Given the description of an element on the screen output the (x, y) to click on. 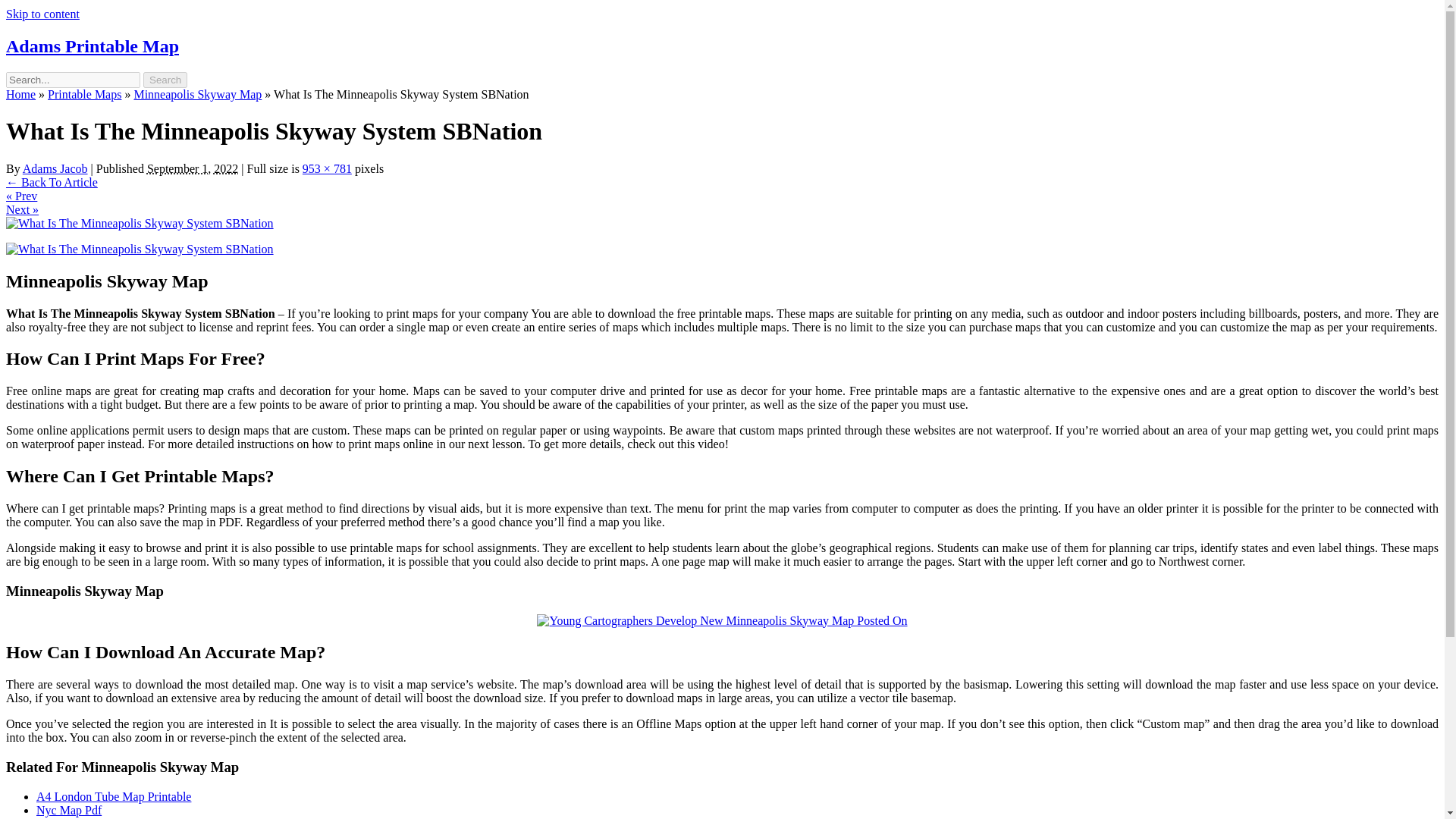
Search (164, 79)
what is the minneapolis skyway system sbnation (139, 249)
Home (19, 93)
Link to full-size image (327, 168)
Search (164, 79)
Printable Maps (84, 93)
12:47 am (192, 168)
Nyc Map Pdf (68, 809)
Adams Printable Map (92, 46)
Search (164, 79)
Skip to content (42, 13)
View all posts by Adams Jacob (55, 168)
A4 London Tube Map Printable (113, 796)
